Given the description of an element on the screen output the (x, y) to click on. 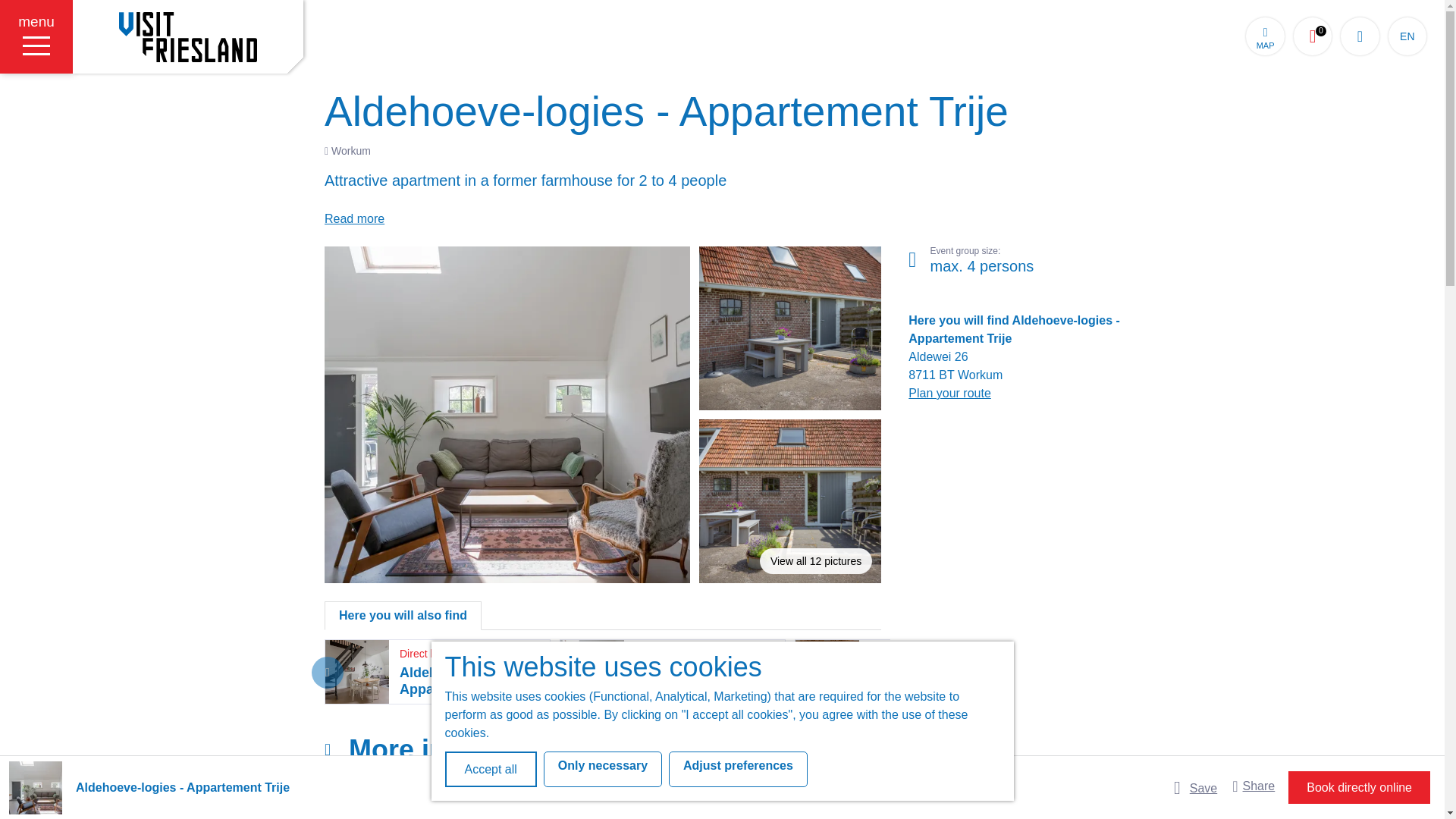
Accept all (489, 769)
Adjust preferences (1313, 36)
menu (738, 769)
MAP (36, 36)
Only necessary (1265, 36)
Map (602, 769)
Favorites (1265, 36)
Go to the homepage Friesland.nl (1313, 36)
